Given the description of an element on the screen output the (x, y) to click on. 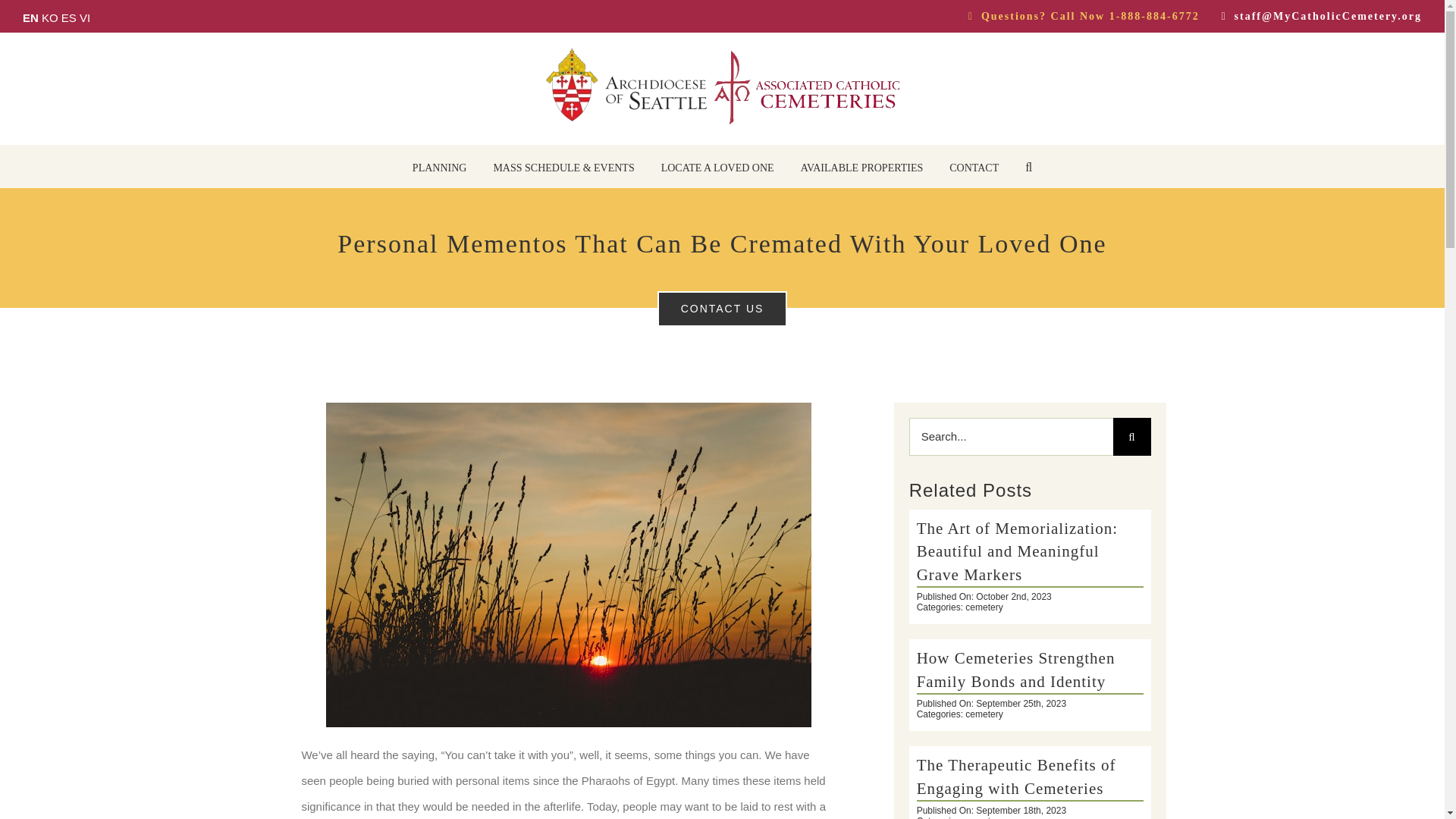
EN (31, 17)
KO (50, 17)
ES (69, 17)
Korean (50, 17)
Questions? Call Now 1-888-884-6772 (1072, 16)
English (31, 17)
Spanish (69, 17)
